Given the description of an element on the screen output the (x, y) to click on. 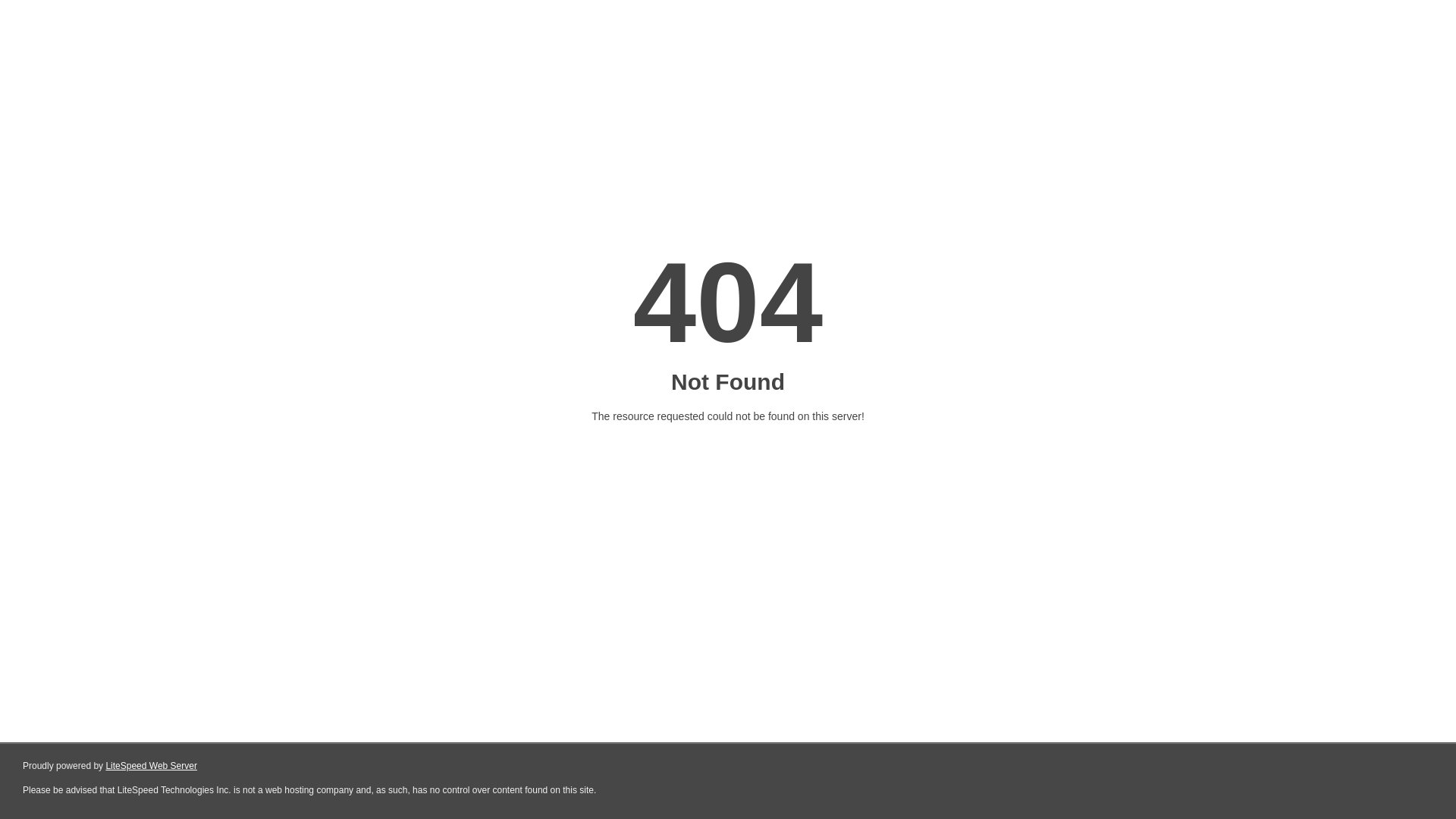
LiteSpeed Web Server Element type: text (151, 765)
